Given the description of an element on the screen output the (x, y) to click on. 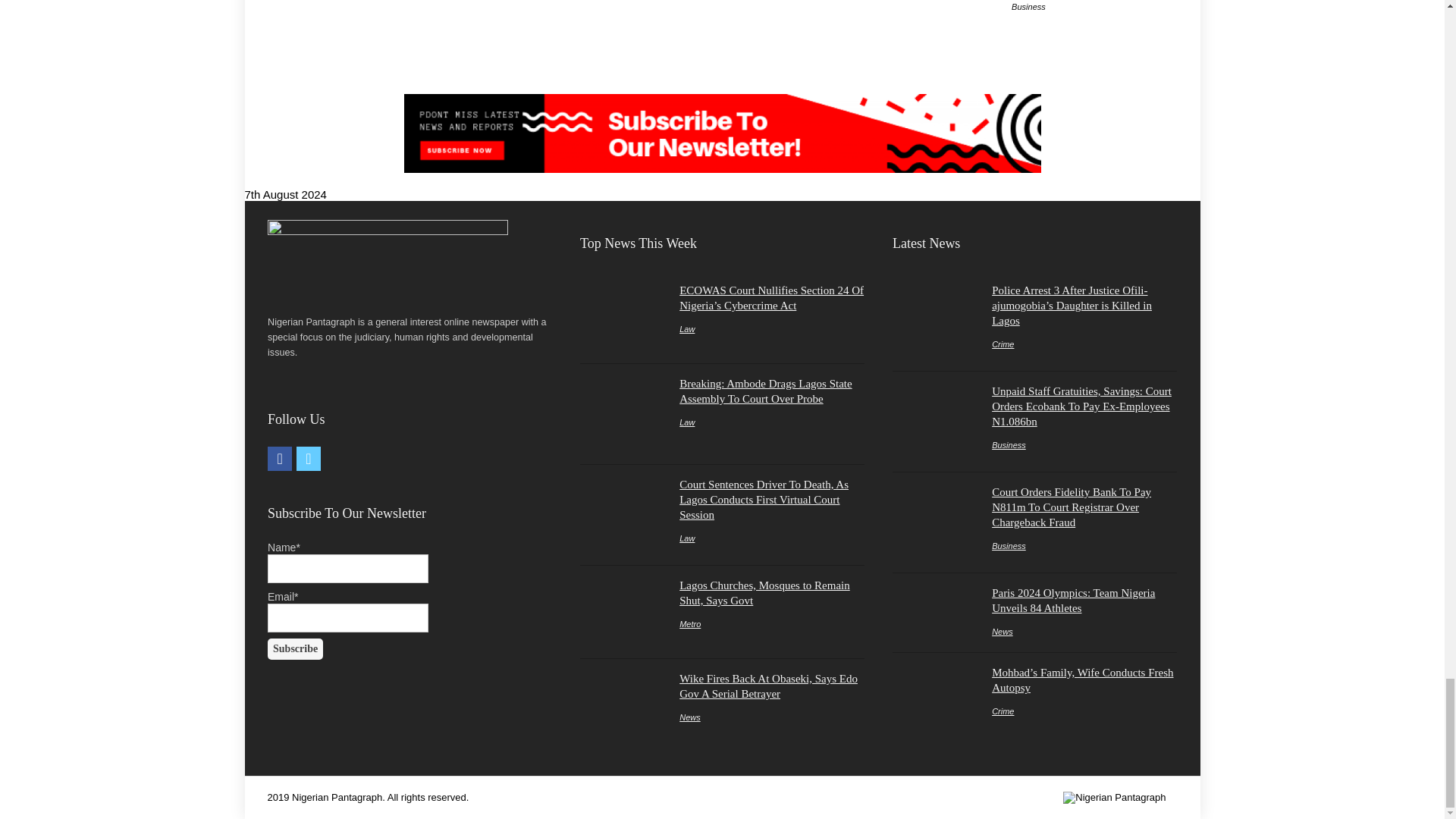
Subscribe (295, 649)
